Given the description of an element on the screen output the (x, y) to click on. 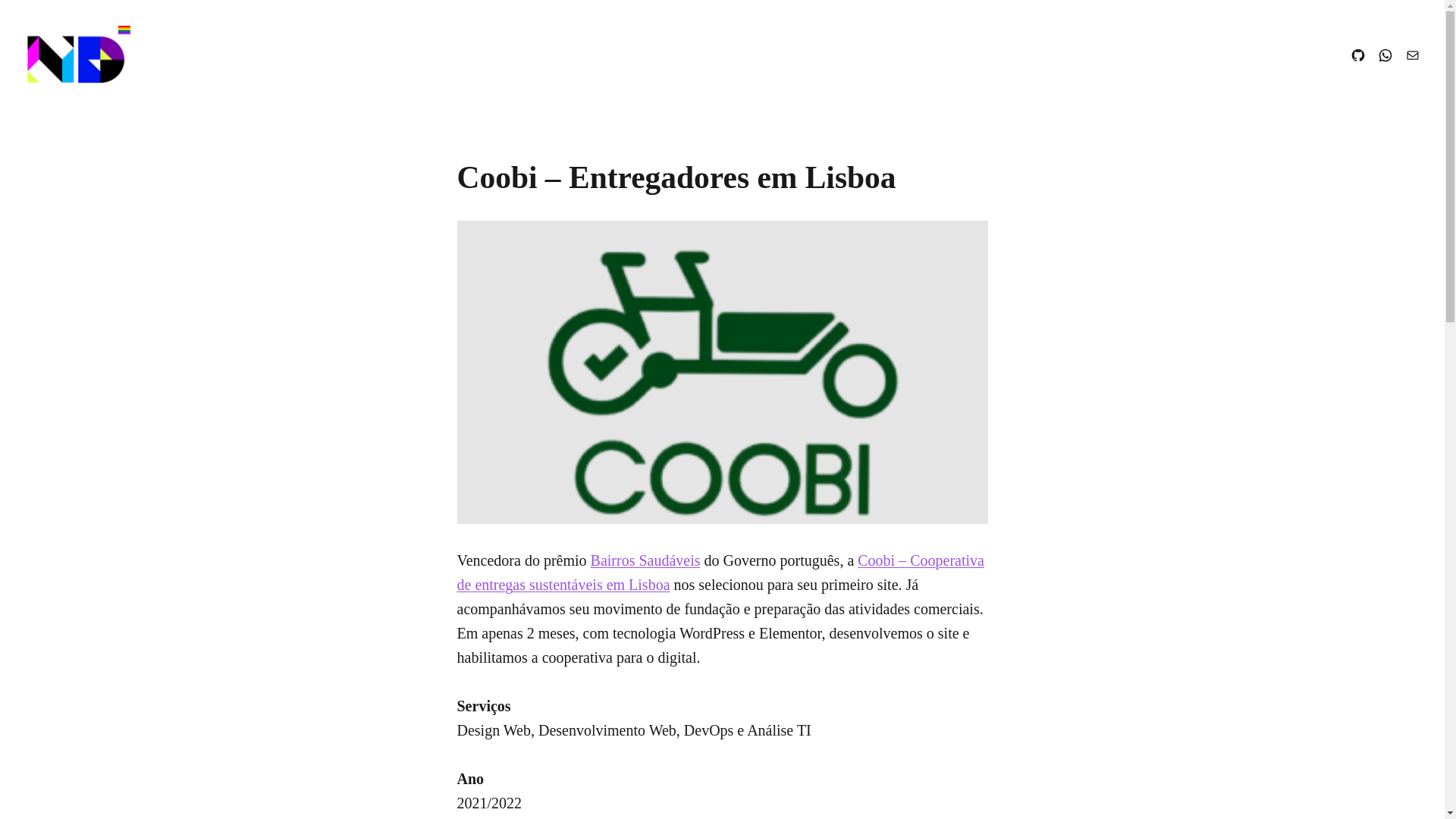
Mail Element type: text (1412, 54)
WhatsApp Element type: text (1385, 54)
GitHub Element type: text (1357, 54)
